Given the description of an element on the screen output the (x, y) to click on. 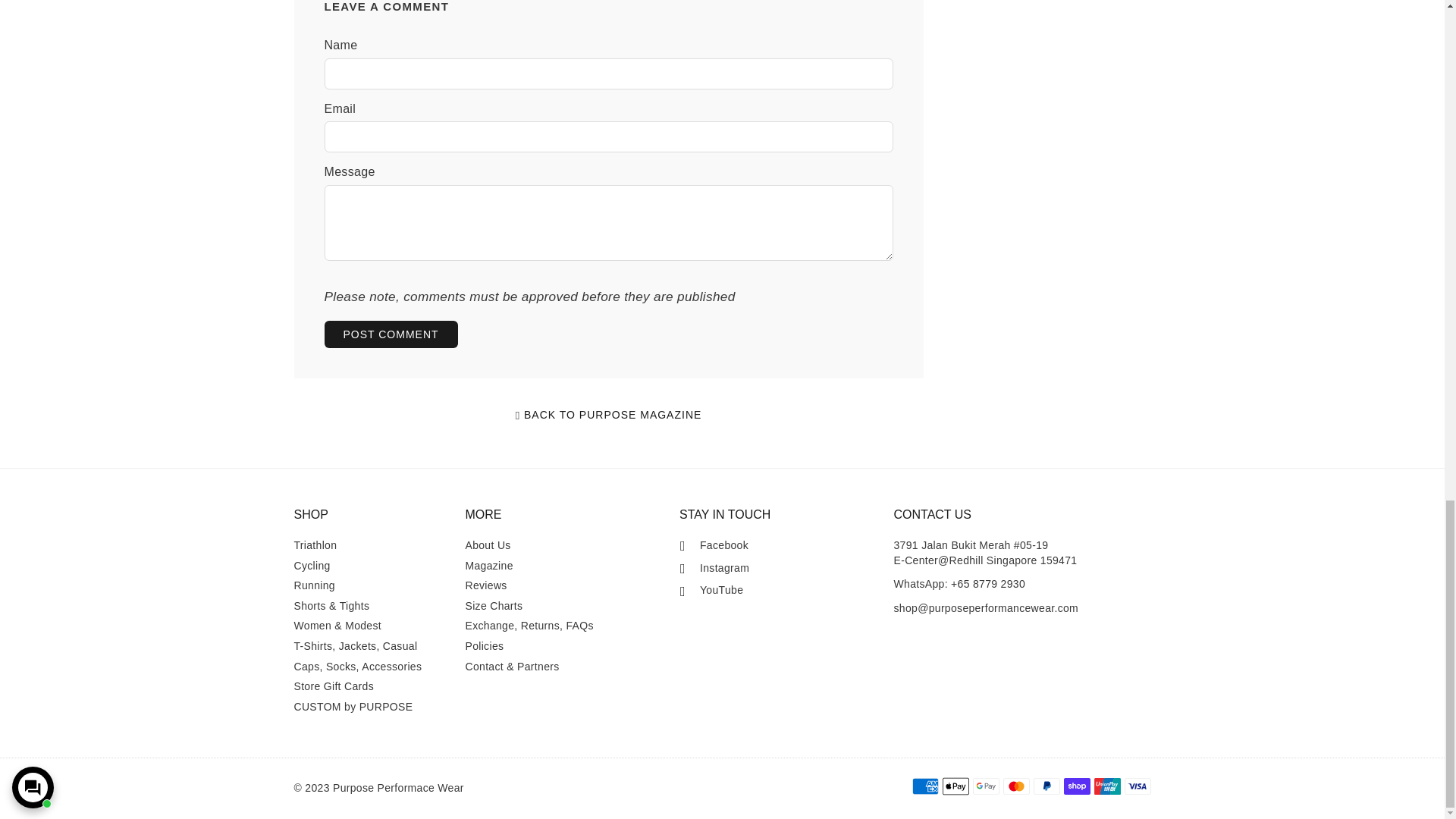
American Express (924, 786)
Shop Pay (1075, 786)
Purpose Performance Wear on Instagram (714, 568)
Apple Pay (955, 786)
Post comment (391, 334)
Visa (1137, 786)
Purpose Performance Wear on Facebook (714, 545)
Mastercard (1016, 786)
Google Pay (985, 786)
Union Pay (1106, 786)
PayPal (1045, 786)
Purpose Performance Wear on YouTube (711, 590)
